Given the description of an element on the screen output the (x, y) to click on. 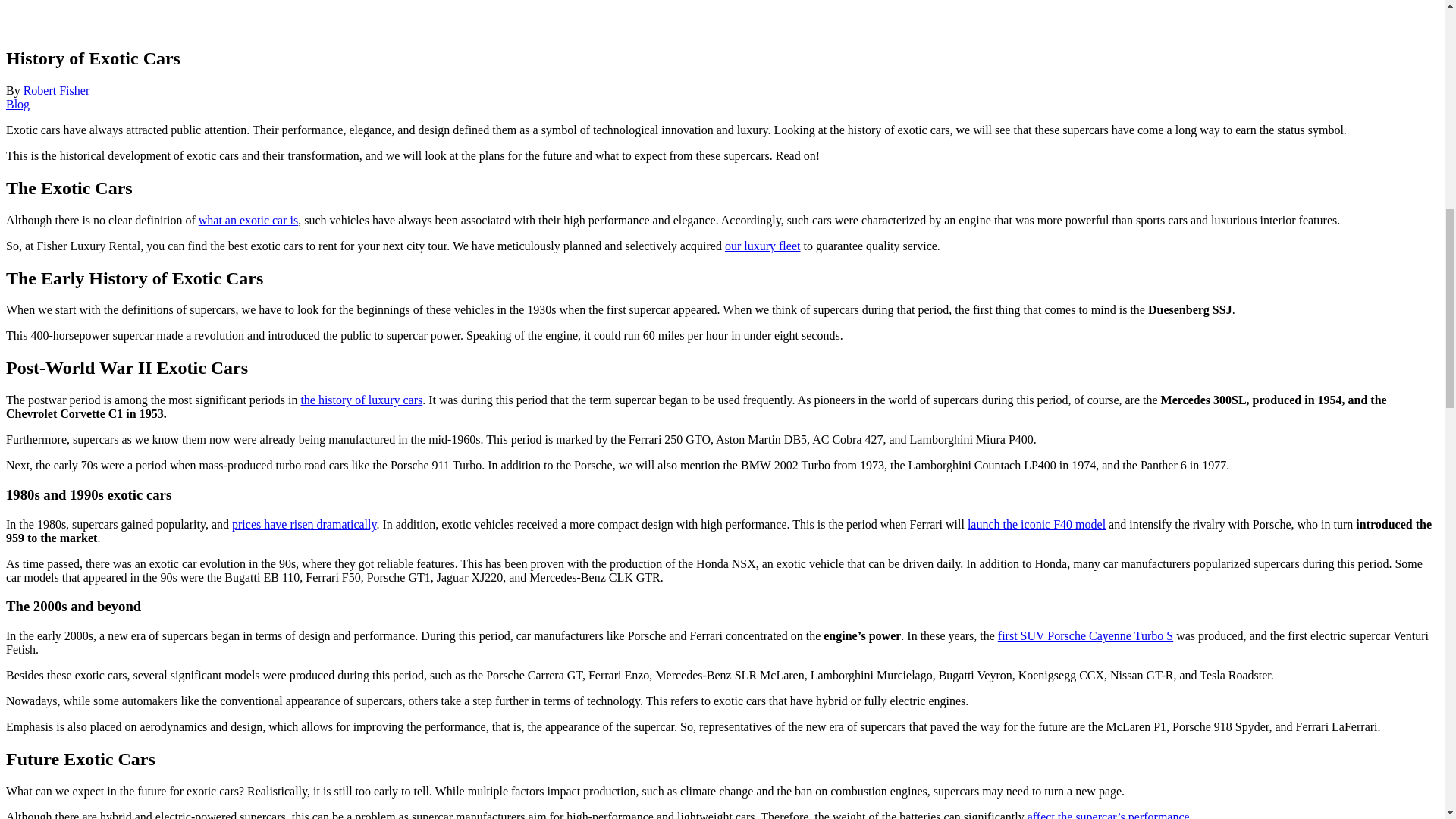
our luxury fleet (762, 245)
Robert Fisher (56, 90)
Posts by Robert Fisher (56, 90)
first SUV Porsche Cayenne Turbo S (1085, 635)
prices have risen dramatically (303, 523)
what an exotic car is (248, 219)
the history of luxury cars (360, 399)
launch the iconic F40 model (1036, 523)
Blog (17, 103)
